Given the description of an element on the screen output the (x, y) to click on. 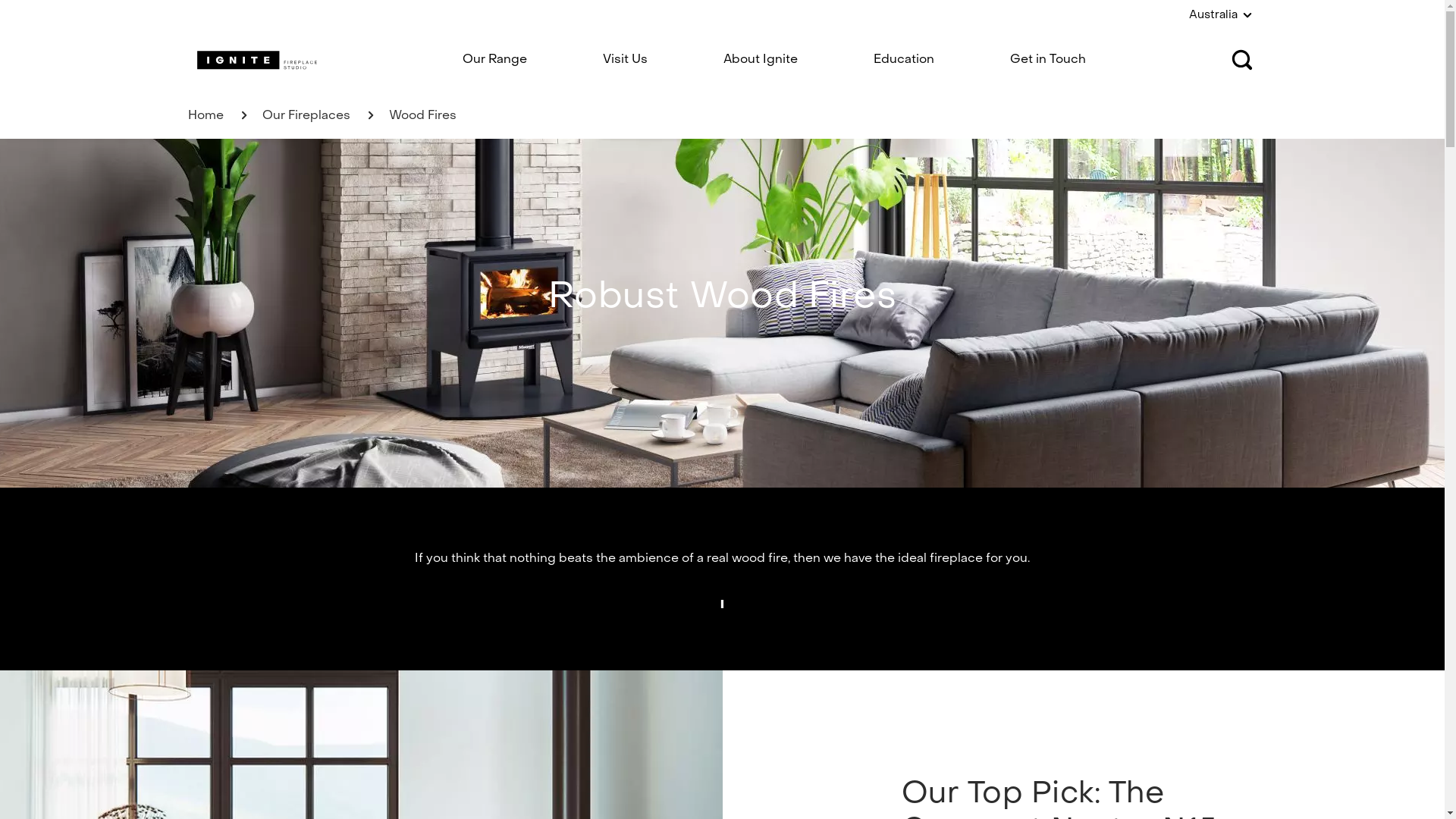
Australia Element type: text (1223, 14)
Home Element type: text (205, 115)
Visit Us Element type: text (624, 59)
Our Fireplaces Element type: text (306, 115)
Education Element type: text (903, 59)
Skip to content Element type: text (0, 0)
About Ignite Element type: text (760, 59)
Our Range Element type: text (494, 59)
Get in Touch Element type: text (1047, 59)
